Given the description of an element on the screen output the (x, y) to click on. 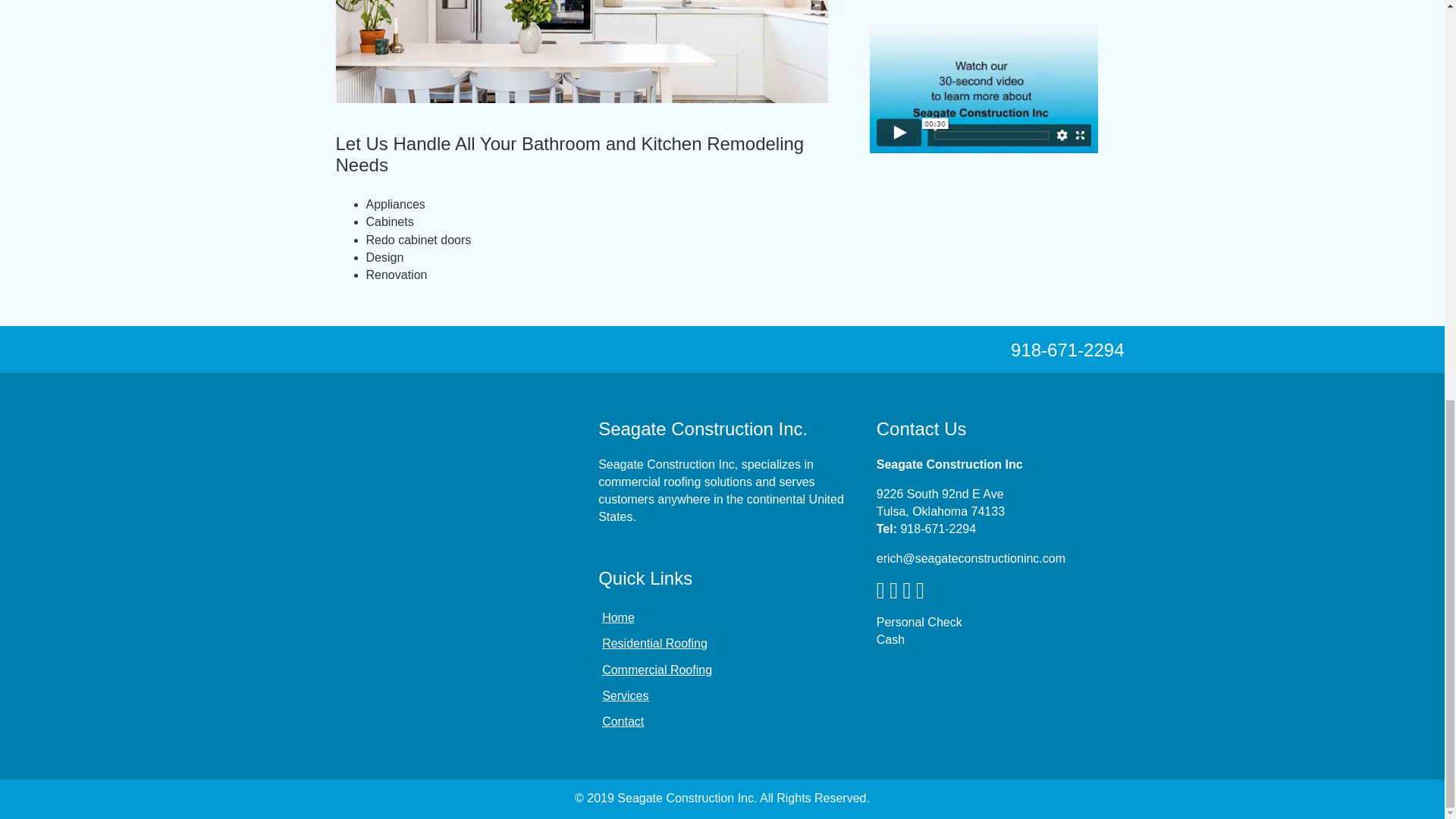
sdvosb (443, 532)
Services (721, 695)
Residential Roofing (721, 643)
Contact (721, 721)
Commercial Roofing (721, 669)
Bathroom Kitchen (580, 51)
Home (721, 617)
